Given the description of an element on the screen output the (x, y) to click on. 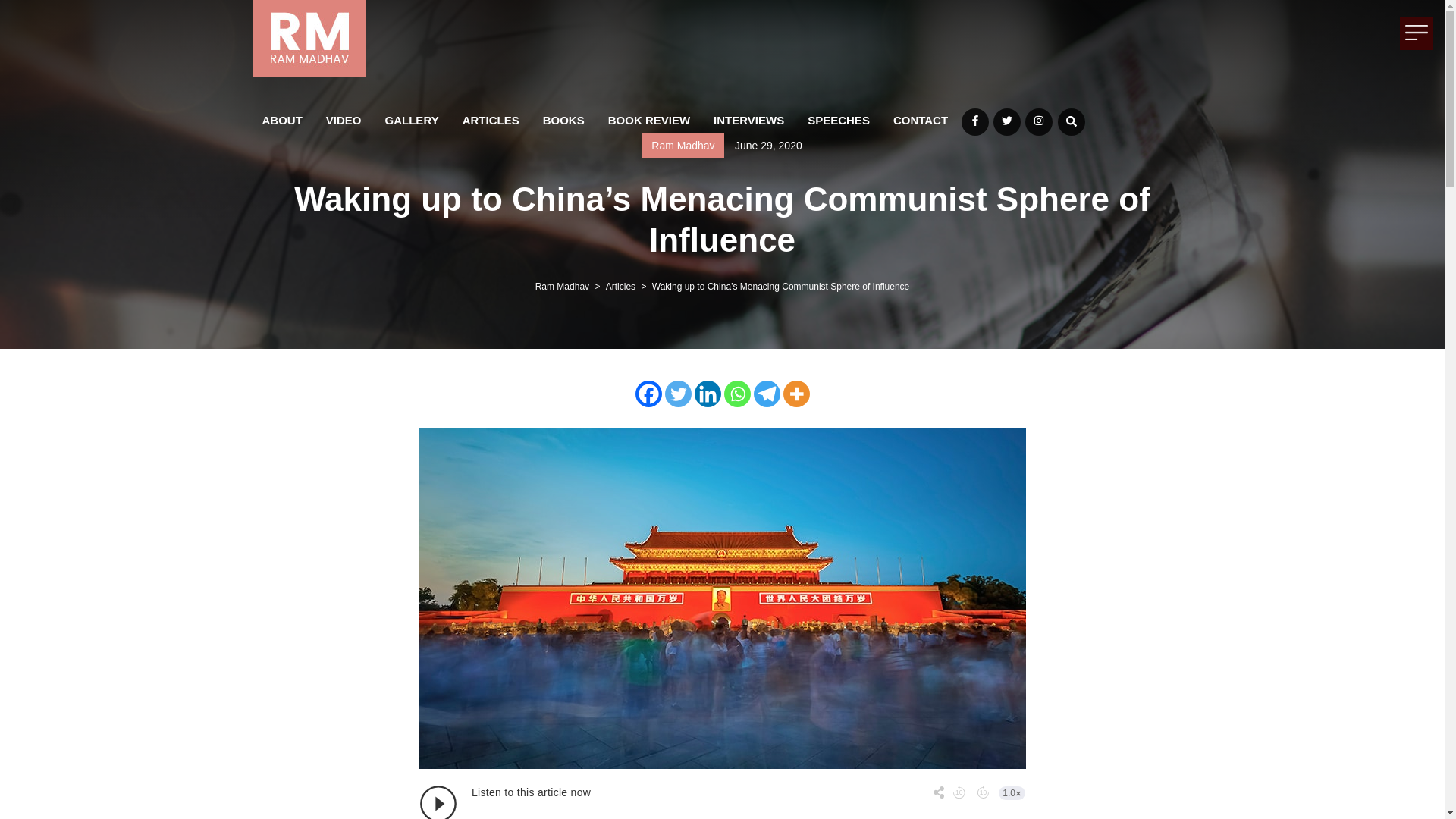
Whatsapp (736, 393)
Facebook (974, 121)
Go to Ram Madhav. (562, 286)
Instagram (1038, 121)
Articles (620, 286)
Twitter (676, 393)
INTERVIEWS (748, 118)
Go to the Articles Category archives. (620, 286)
BOOK REVIEW (649, 118)
Facebook (648, 393)
Telegram (767, 393)
More (796, 393)
Twitter (1006, 121)
Linkedin (707, 393)
Ram Madhav (562, 286)
